Given the description of an element on the screen output the (x, y) to click on. 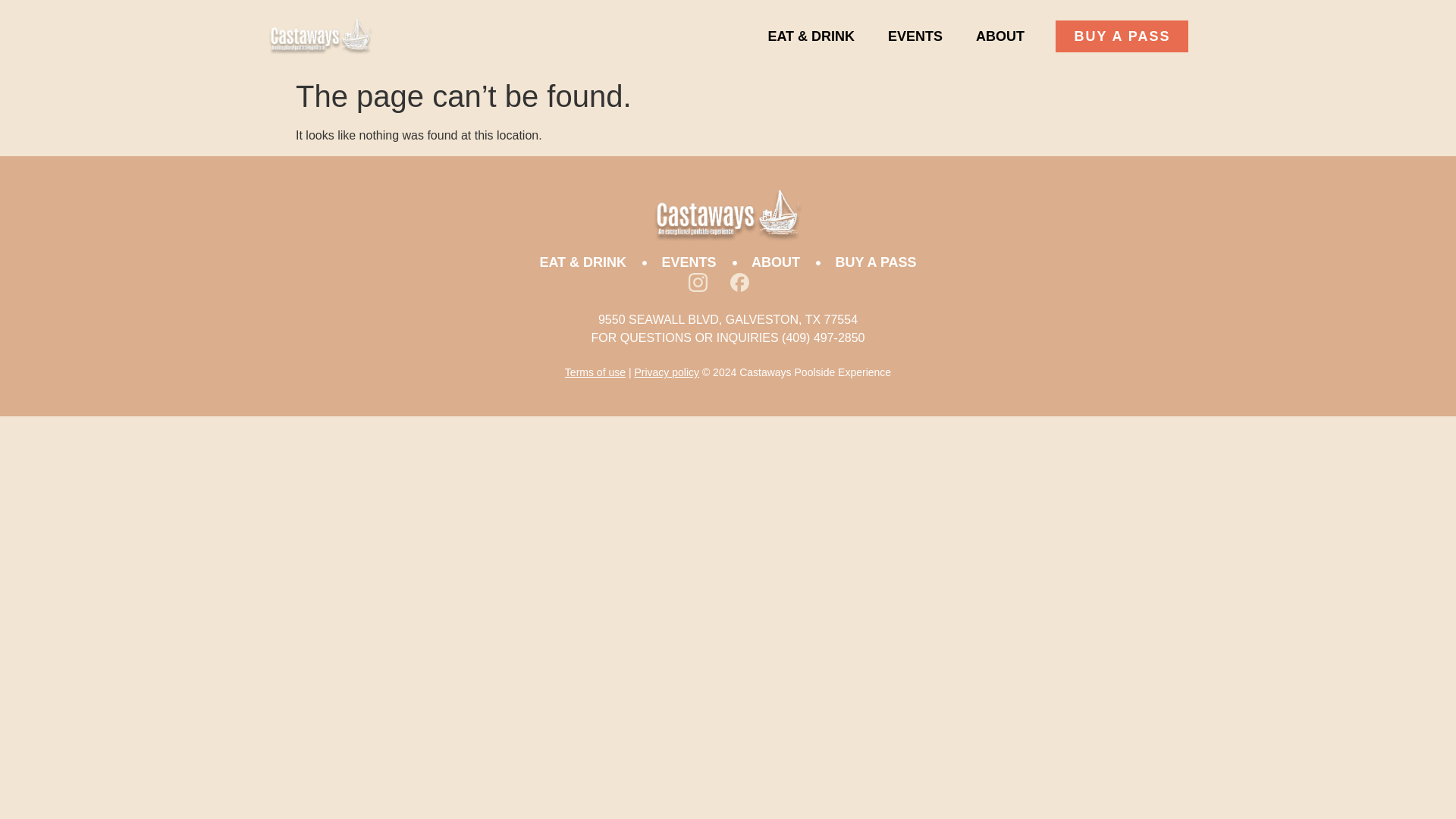
ABOUT (766, 262)
BUY A PASS (866, 262)
Terms of use (595, 372)
EVENTS (914, 36)
Privacy policy (665, 372)
ABOUT (1000, 36)
EVENTS (679, 262)
BUY A PASS (1121, 36)
